Given the description of an element on the screen output the (x, y) to click on. 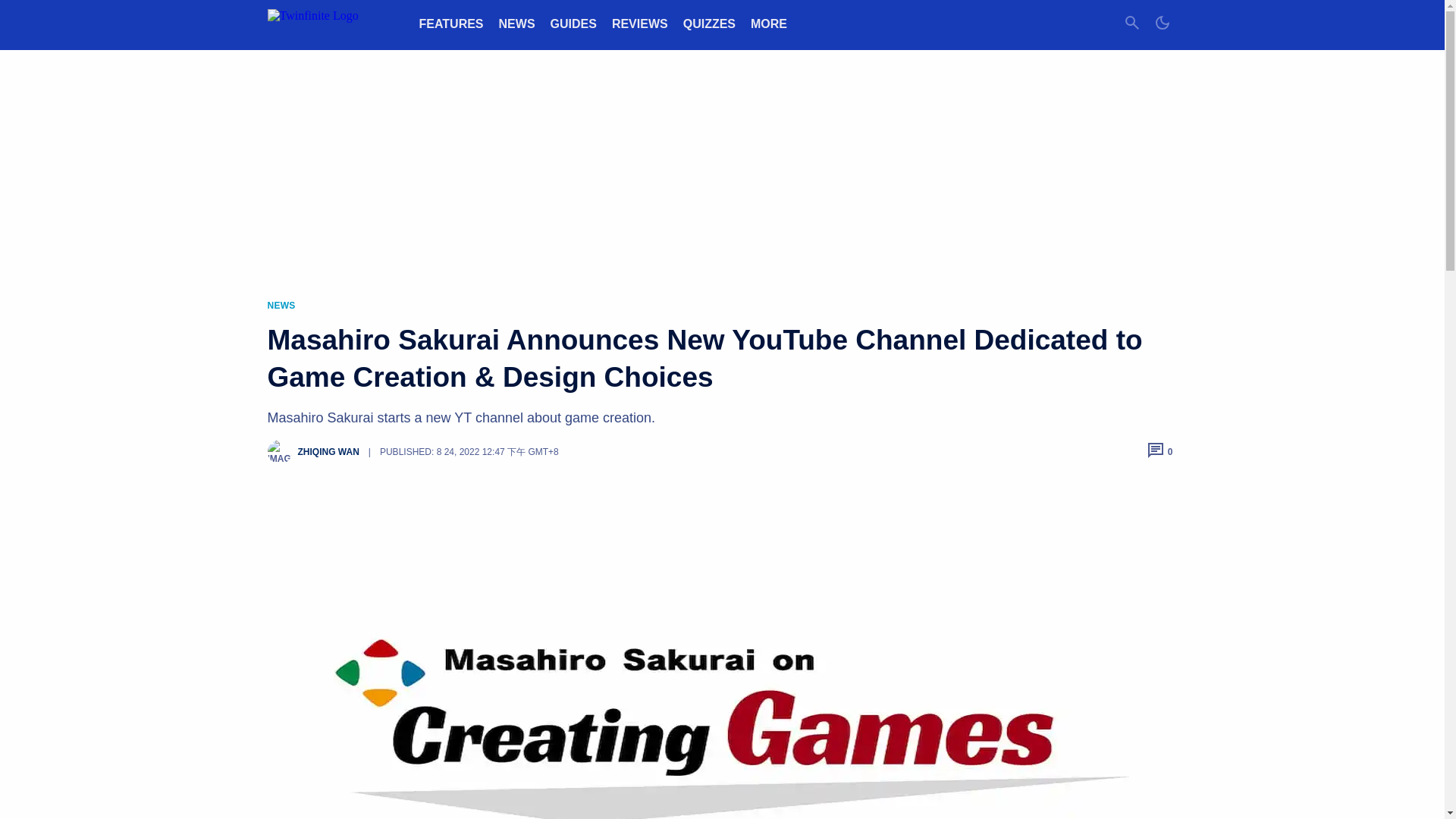
Dark Mode (1161, 23)
FEATURES (451, 23)
GUIDES (573, 23)
Search (1131, 23)
REVIEWS (639, 23)
QUIZZES (708, 23)
NEWS (517, 23)
